Given the description of an element on the screen output the (x, y) to click on. 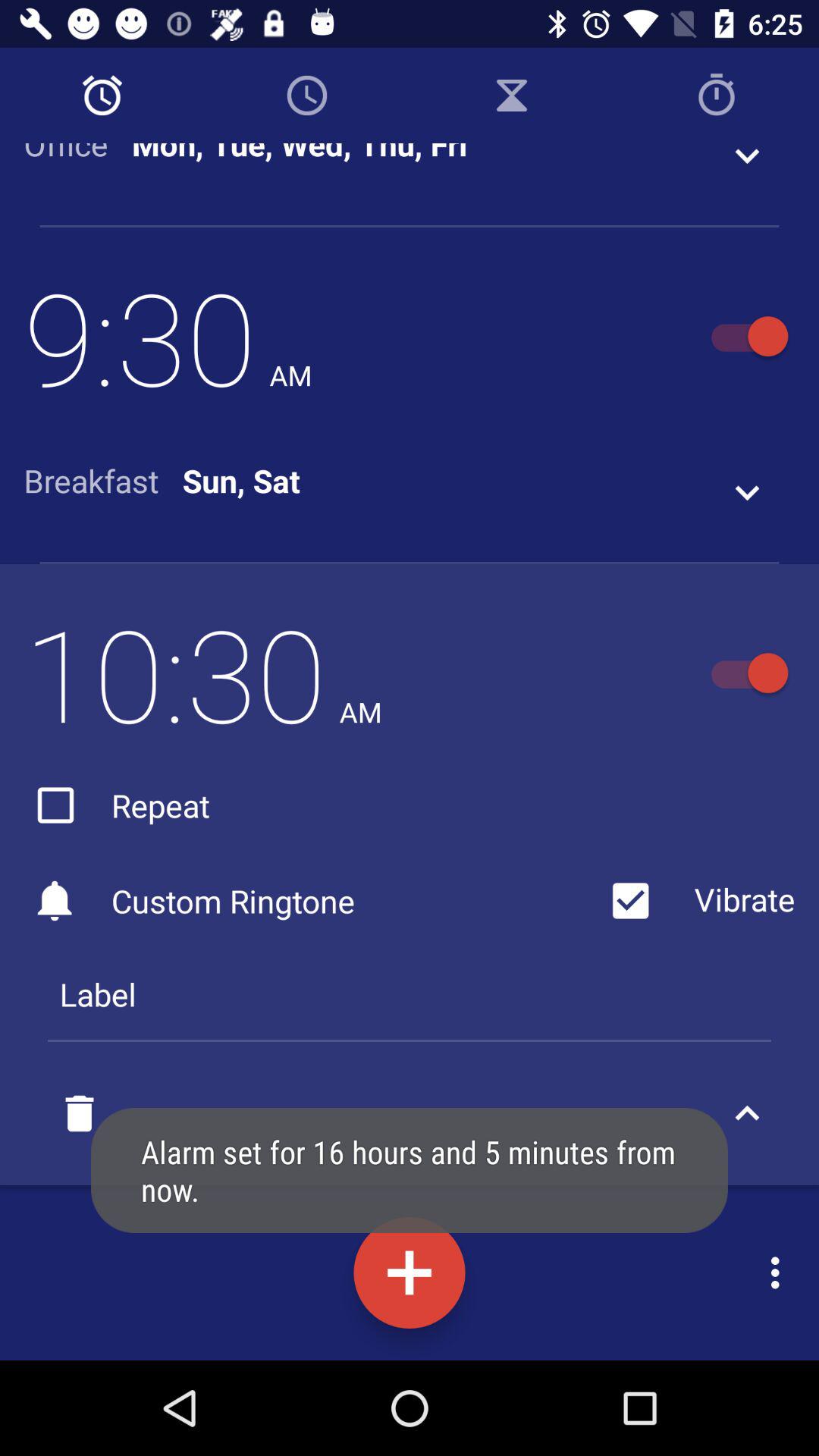
turn off item to the left of vibrate icon (310, 900)
